Given the description of an element on the screen output the (x, y) to click on. 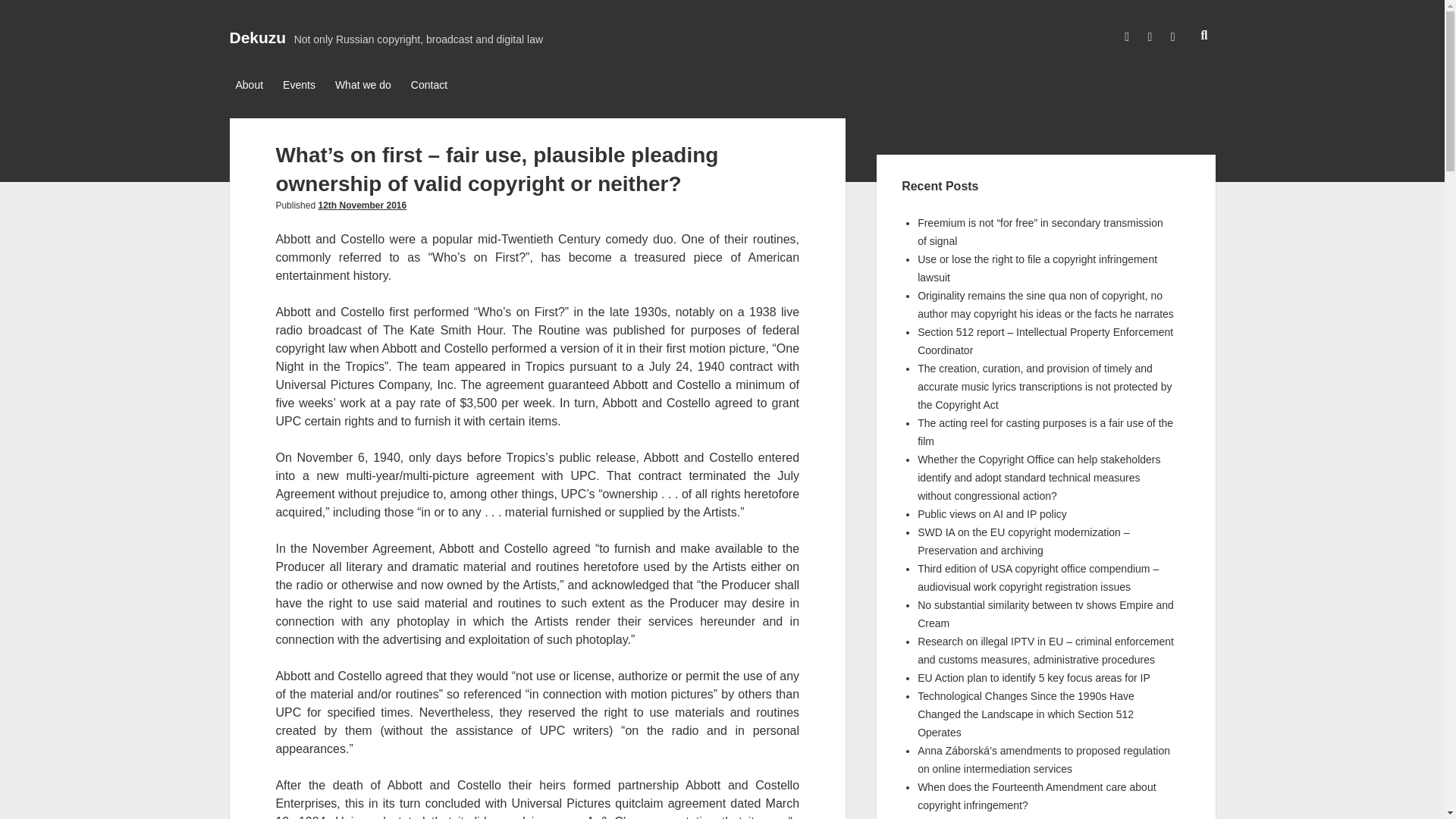
12th November 2016 (361, 204)
Dekuzu (256, 36)
Contact (428, 85)
Events (298, 85)
About (248, 85)
What we do (363, 85)
